Given the description of an element on the screen output the (x, y) to click on. 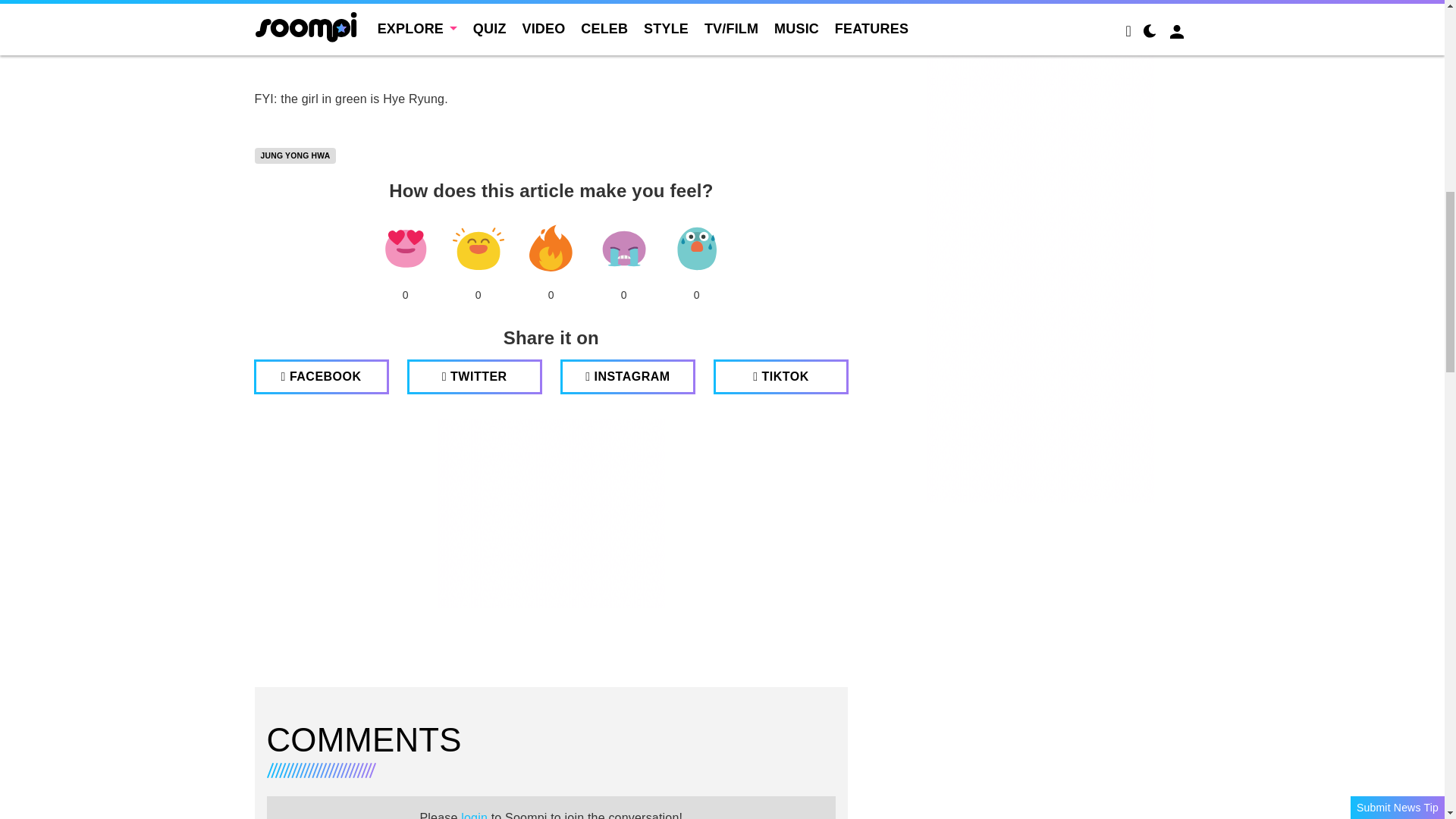
Crying (623, 248)
cry (623, 248)
TIKTOK (780, 376)
heart (405, 248)
Jung Yong Hwa (295, 156)
Fire (550, 248)
OMG (696, 248)
INSTAGRAM (627, 376)
fire (550, 248)
JUNG YONG HWA (295, 156)
omg (696, 248)
TWITTER (474, 376)
LOL (478, 248)
FACEBOOK (320, 376)
lol (478, 248)
